Given the description of an element on the screen output the (x, y) to click on. 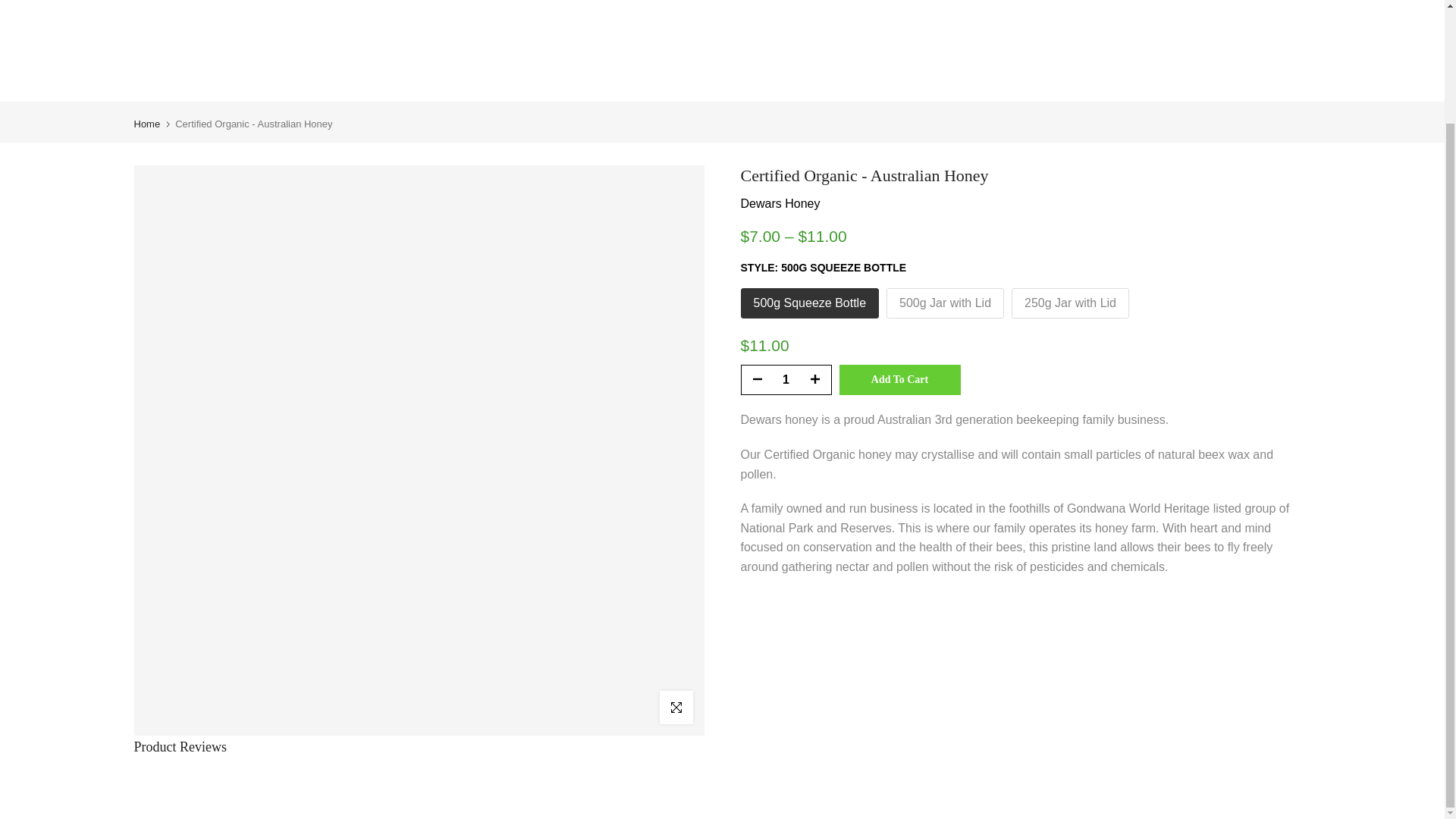
Add To Cart (898, 379)
1 (786, 379)
Home (146, 123)
Dewars Honey (779, 203)
